Given the description of an element on the screen output the (x, y) to click on. 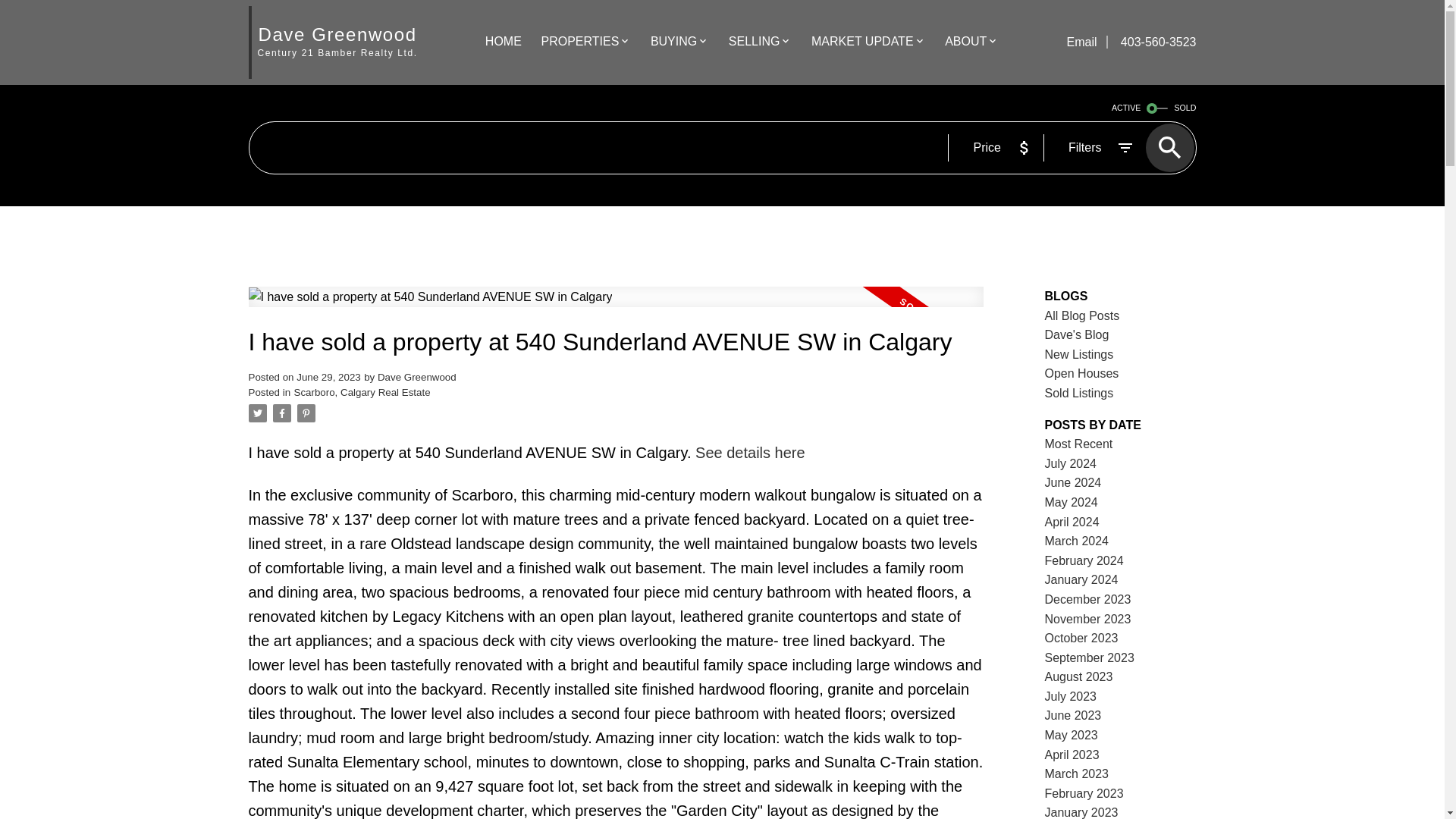
Email (1082, 42)
New Listings (1079, 354)
Most Recent (1079, 443)
Sold Listings (1079, 392)
Open Houses (1082, 373)
July 2024 (1071, 463)
SELLING (754, 42)
June 2024 (1073, 481)
Scarboro, Calgary Real Estate (362, 392)
BUYING (673, 42)
Dave's Blog (1077, 334)
All Blog Posts (1082, 315)
  403-560-3523 (1151, 42)
ABOUT (965, 42)
PROPERTIES (579, 42)
